Given the description of an element on the screen output the (x, y) to click on. 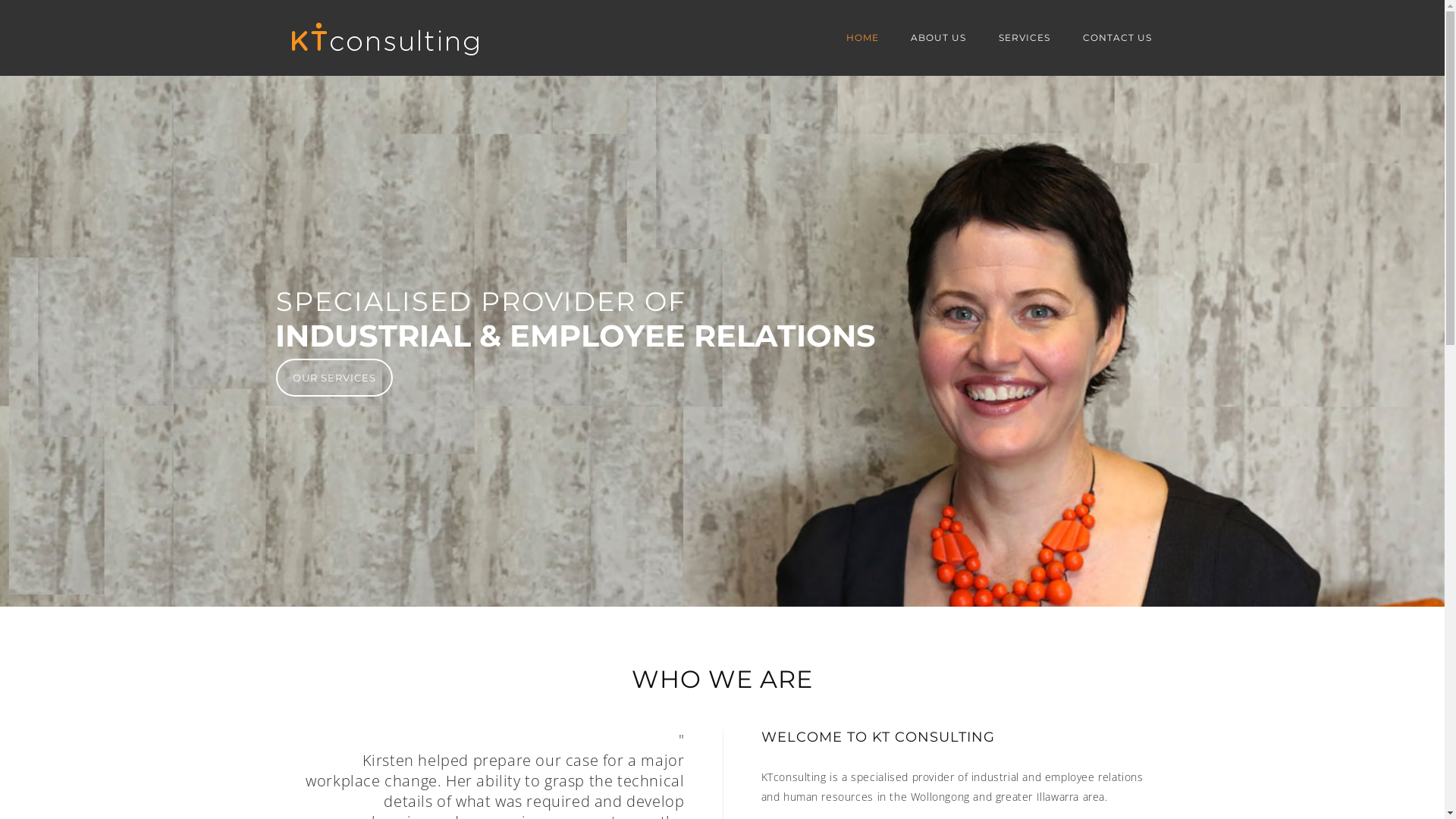
SERVICES Element type: text (1024, 37)
ABOUT US Element type: text (938, 37)
HOME Element type: text (862, 37)
CONTACT US Element type: text (1116, 37)
OUR SERVICES Element type: text (334, 377)
